Given the description of an element on the screen output the (x, y) to click on. 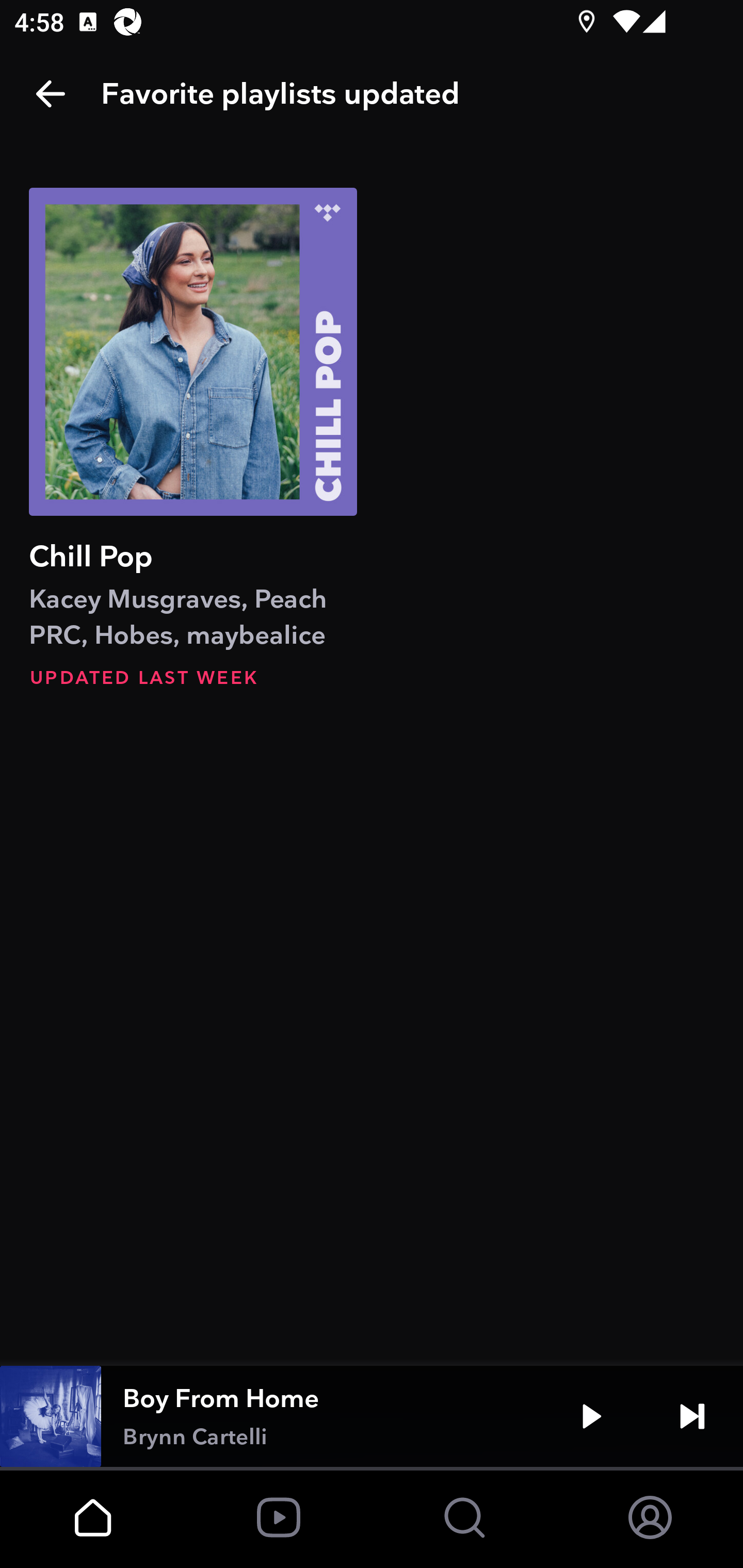
Boy From Home Brynn Cartelli Play (371, 1416)
Play (590, 1416)
